Given the description of an element on the screen output the (x, y) to click on. 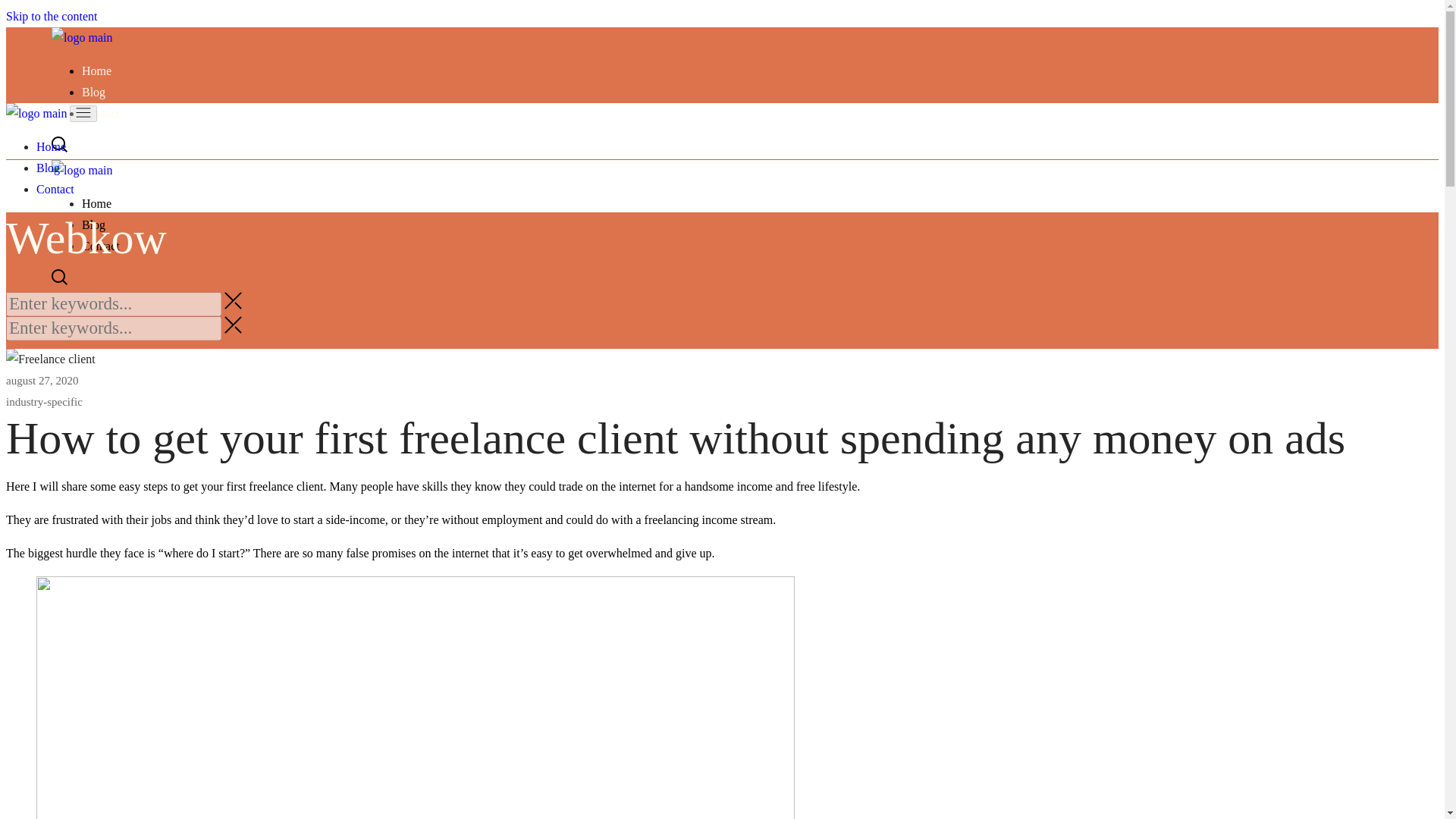
Blog (92, 91)
august 27, 2020 (41, 380)
Skip to the content (51, 15)
Home (96, 70)
Home (50, 146)
Home (96, 203)
Blog (92, 224)
Contact (100, 245)
Blog (47, 167)
Contact (100, 113)
industry-specific (43, 401)
Contact (55, 188)
